Given the description of an element on the screen output the (x, y) to click on. 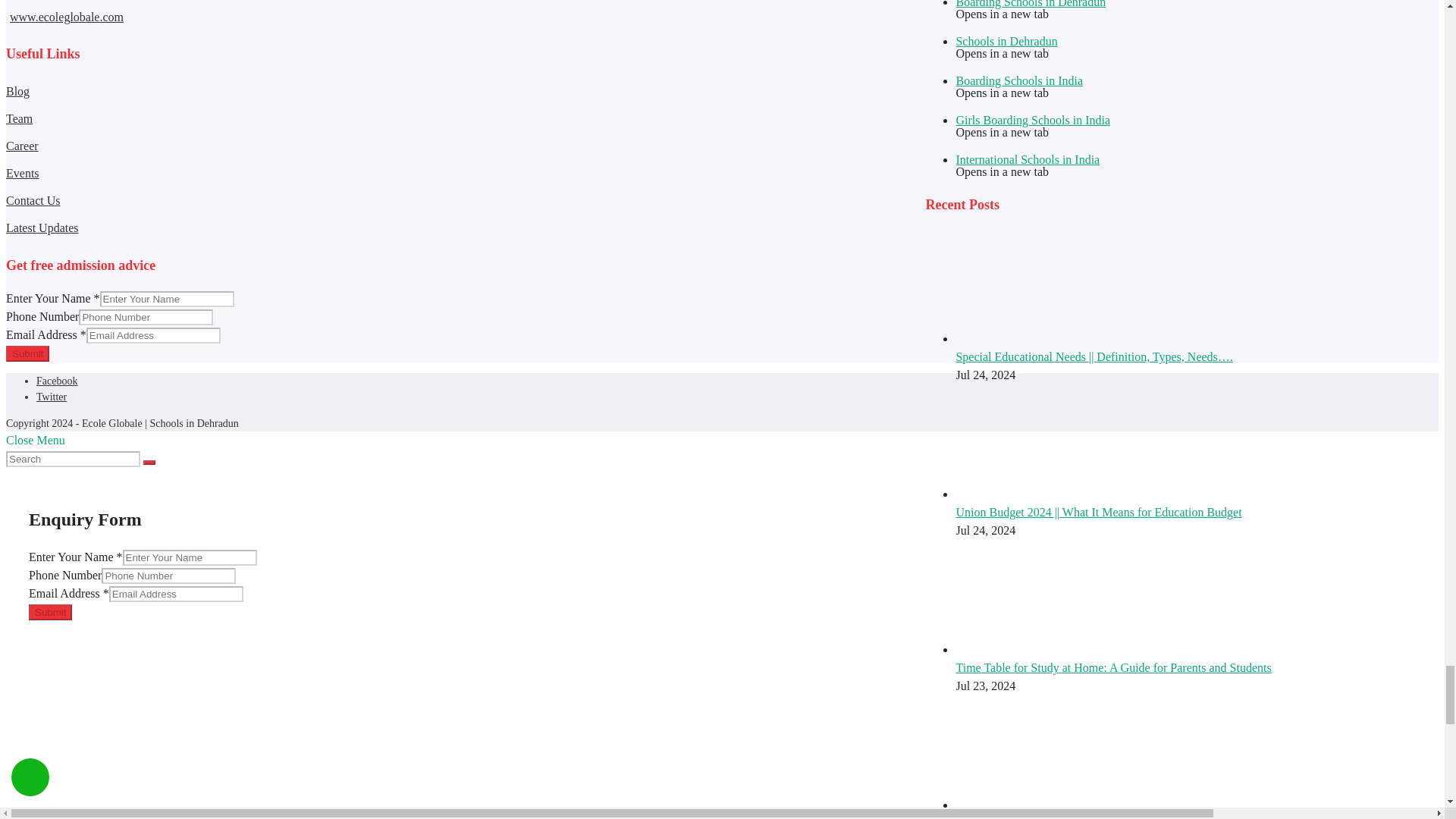
What Is the Foundation of Effective Teamwork? (1011, 804)
